Given the description of an element on the screen output the (x, y) to click on. 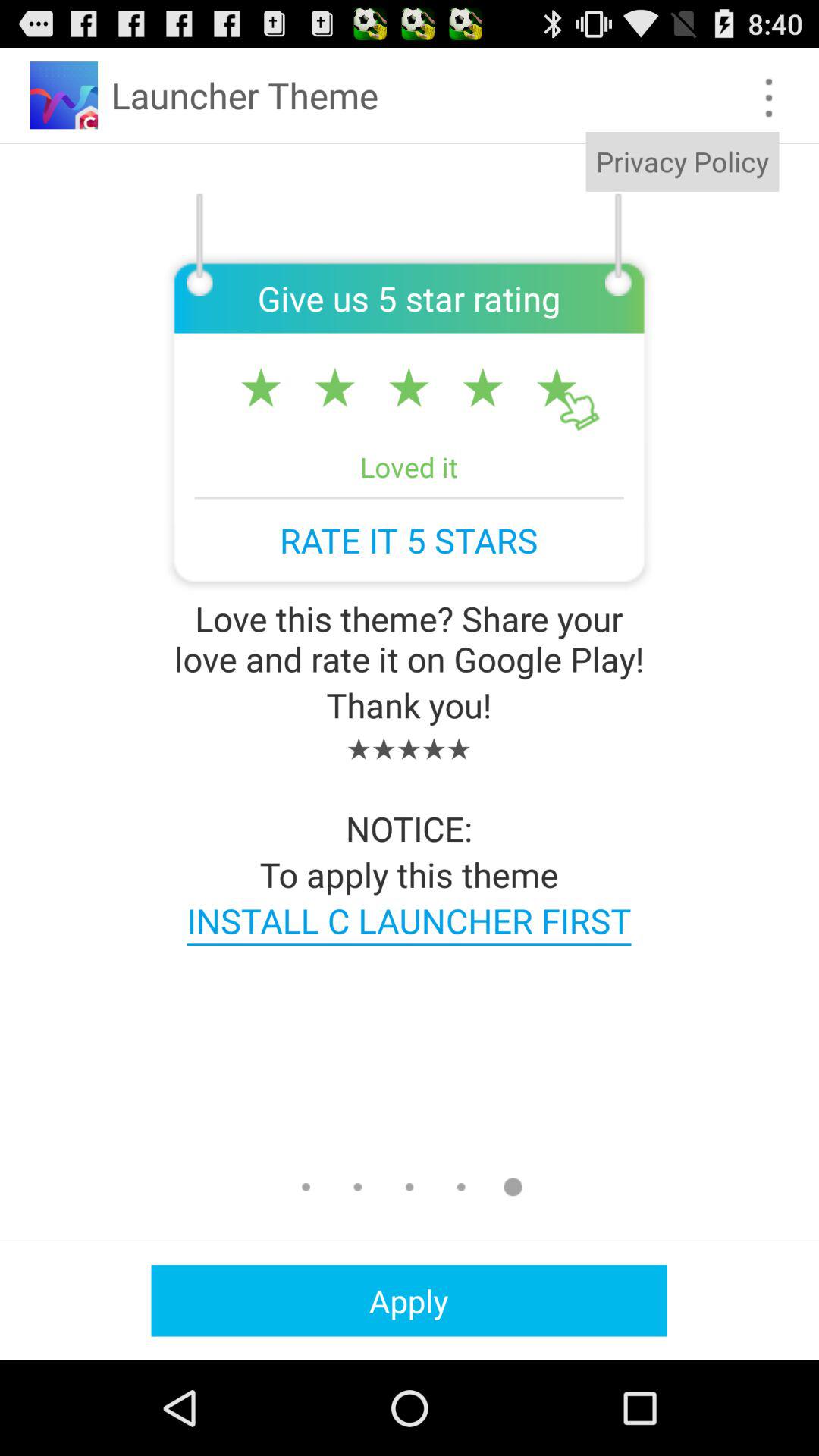
choose privacy policy app (682, 161)
